Given the description of an element on the screen output the (x, y) to click on. 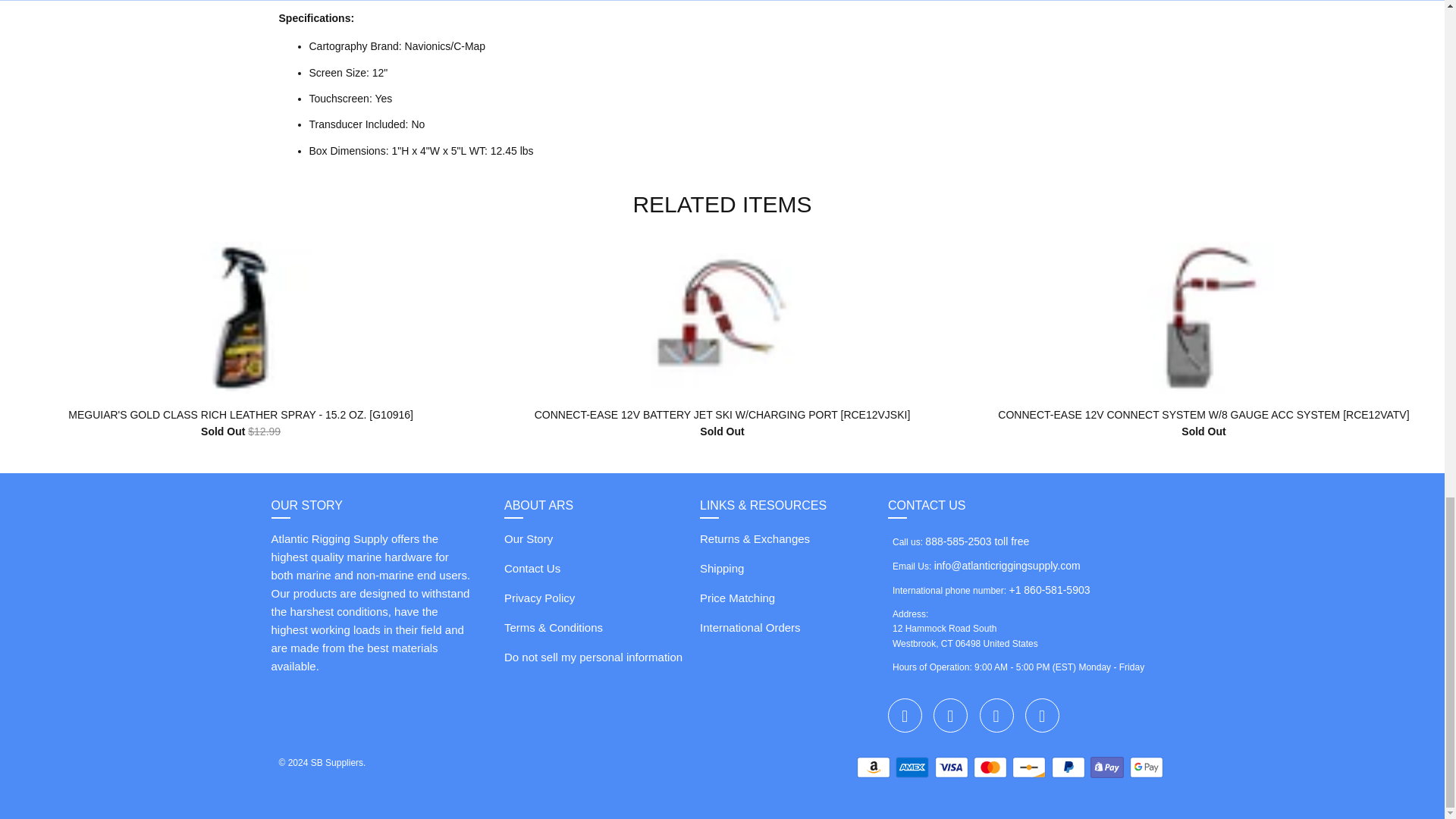
Discover (1029, 766)
American Express (913, 766)
Visa (952, 766)
Google Pay (1147, 766)
SB Suppliers on Facebook (950, 715)
SB Suppliers on Twitter (904, 715)
Shopify Pay (1108, 766)
Amazon (875, 766)
PayPal (1069, 766)
Mastercard (992, 766)
